Given the description of an element on the screen output the (x, y) to click on. 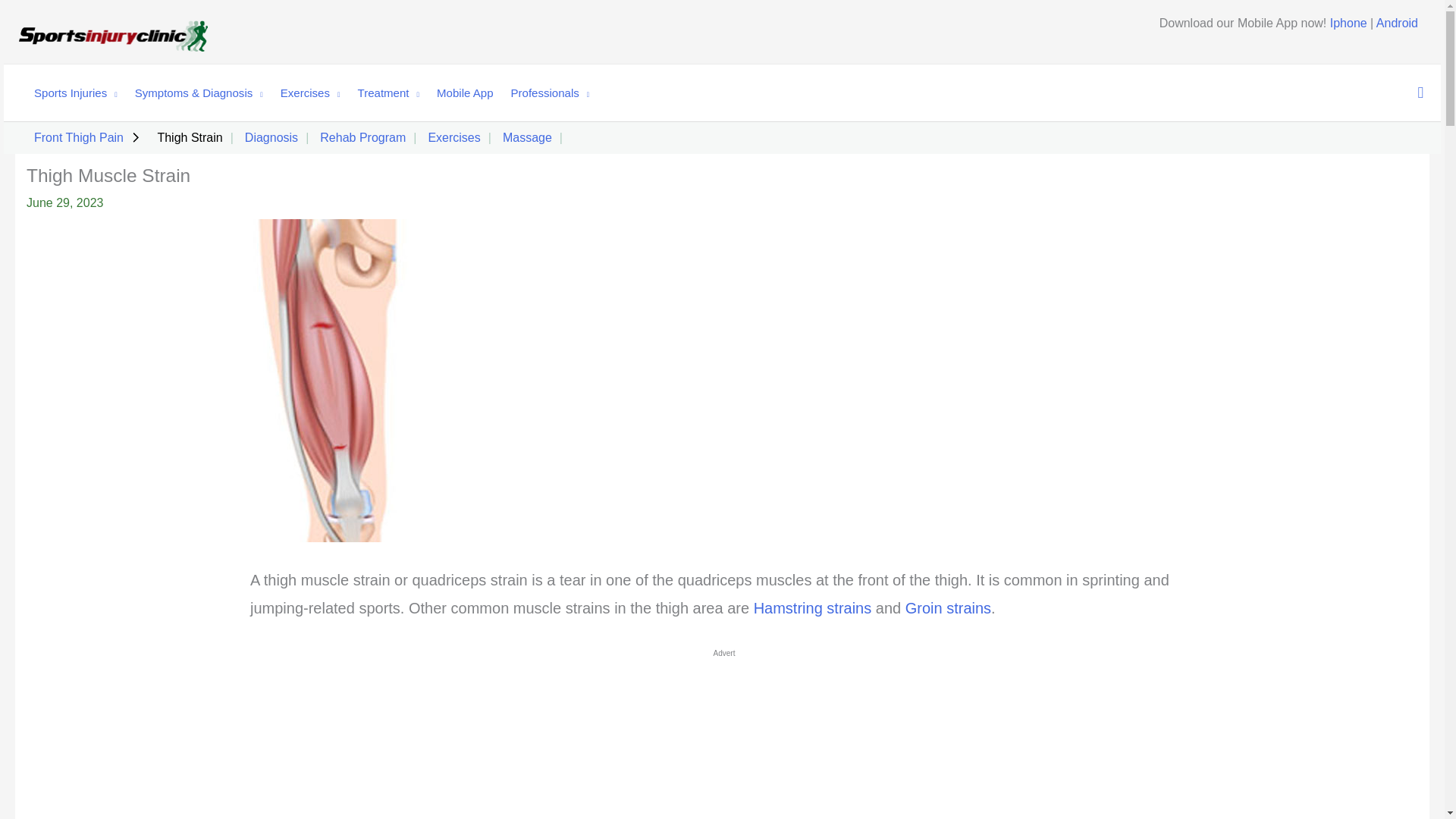
Sports Injuries (68, 92)
Android (1396, 22)
Iphone (1348, 22)
